Given the description of an element on the screen output the (x, y) to click on. 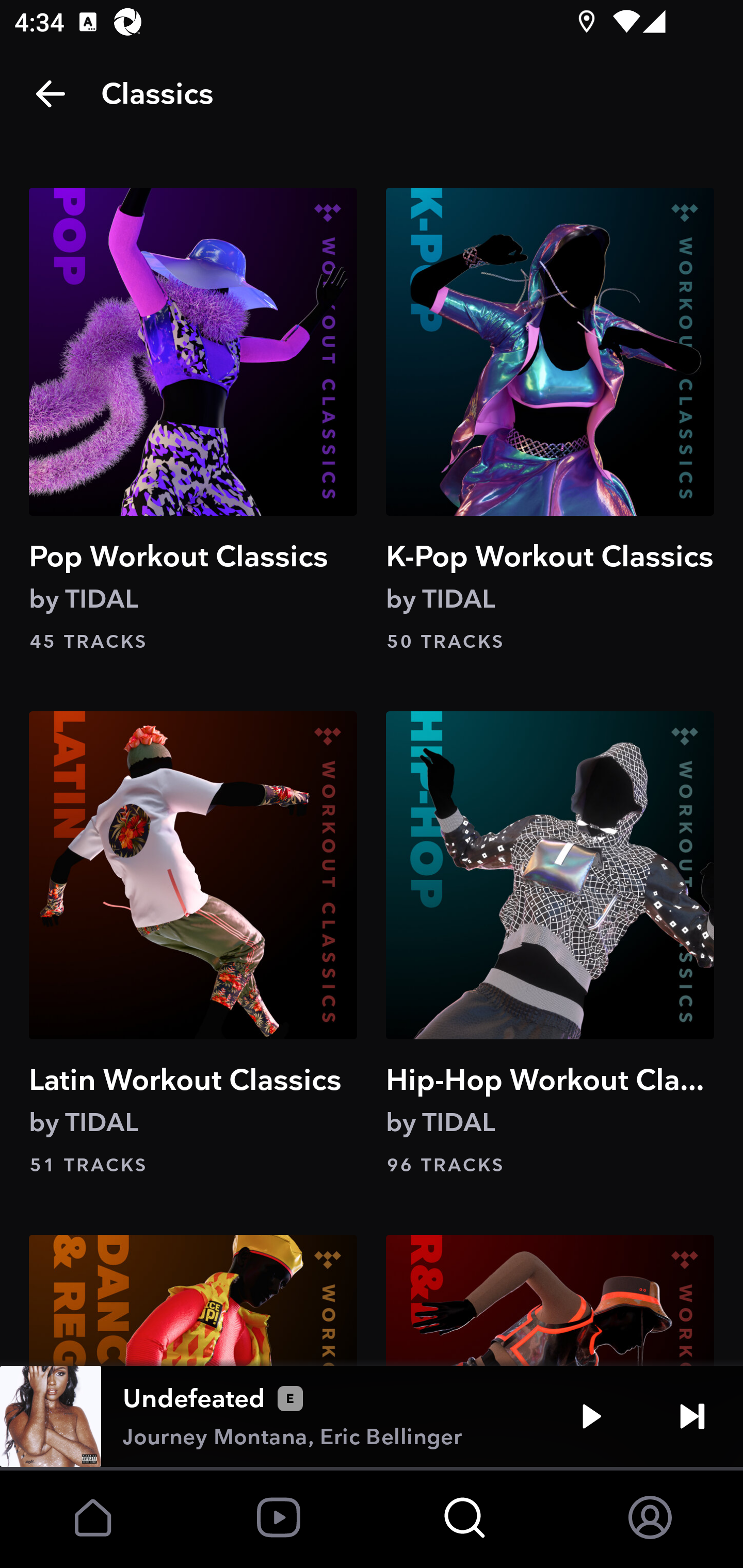
Pop Workout Classics by TIDAL 45 TRACKS (192, 420)
K-Pop Workout Classics by TIDAL 50 TRACKS (549, 420)
Latin Workout Classics by TIDAL 51 TRACKS (192, 944)
Hip-Hop Workout Classics by TIDAL 96 TRACKS (549, 944)
Undefeated    Journey Montana, Eric Bellinger Play (371, 1416)
Play (590, 1416)
